Given the description of an element on the screen output the (x, y) to click on. 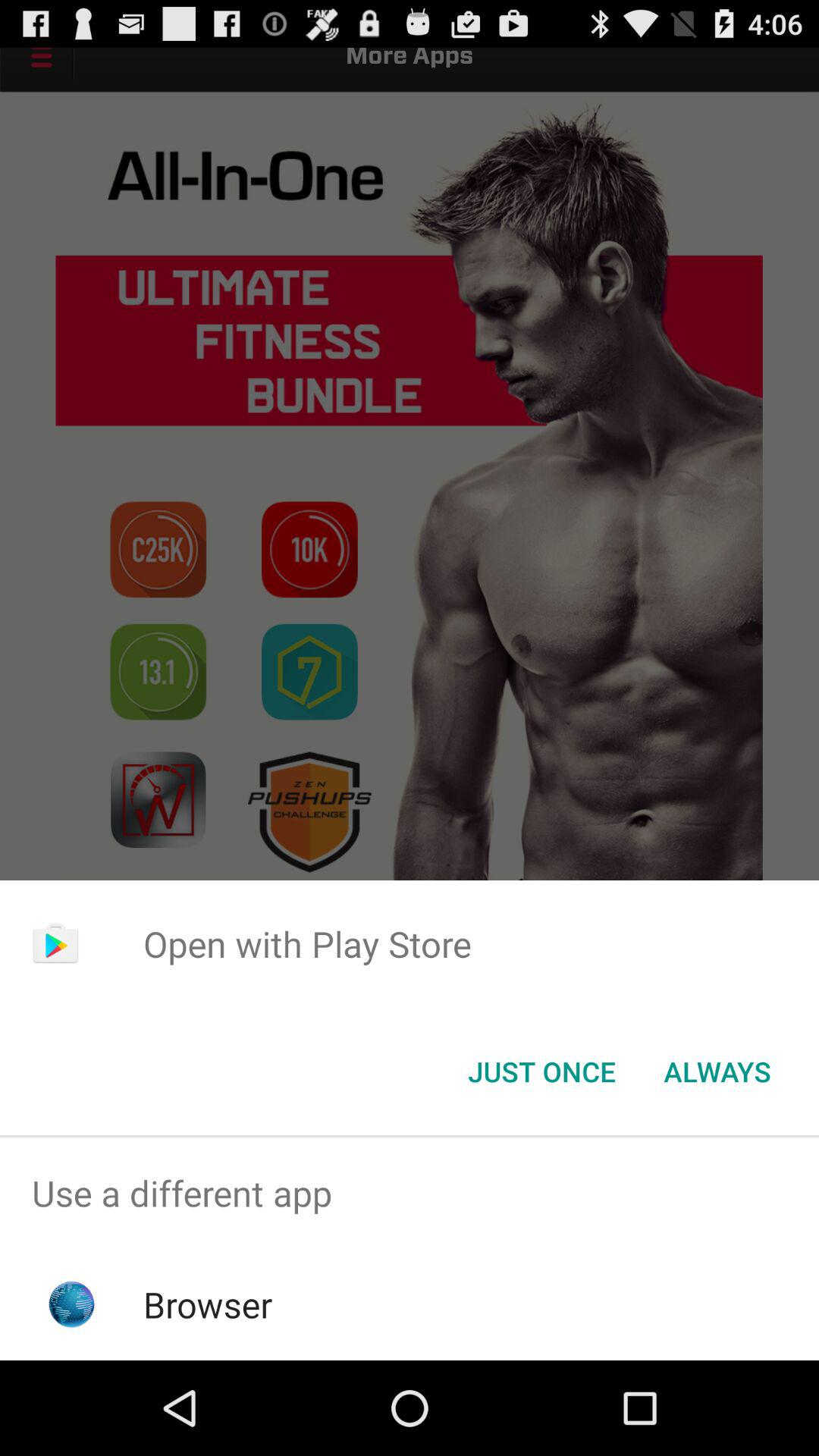
select button to the right of the just once icon (717, 1071)
